Given the description of an element on the screen output the (x, y) to click on. 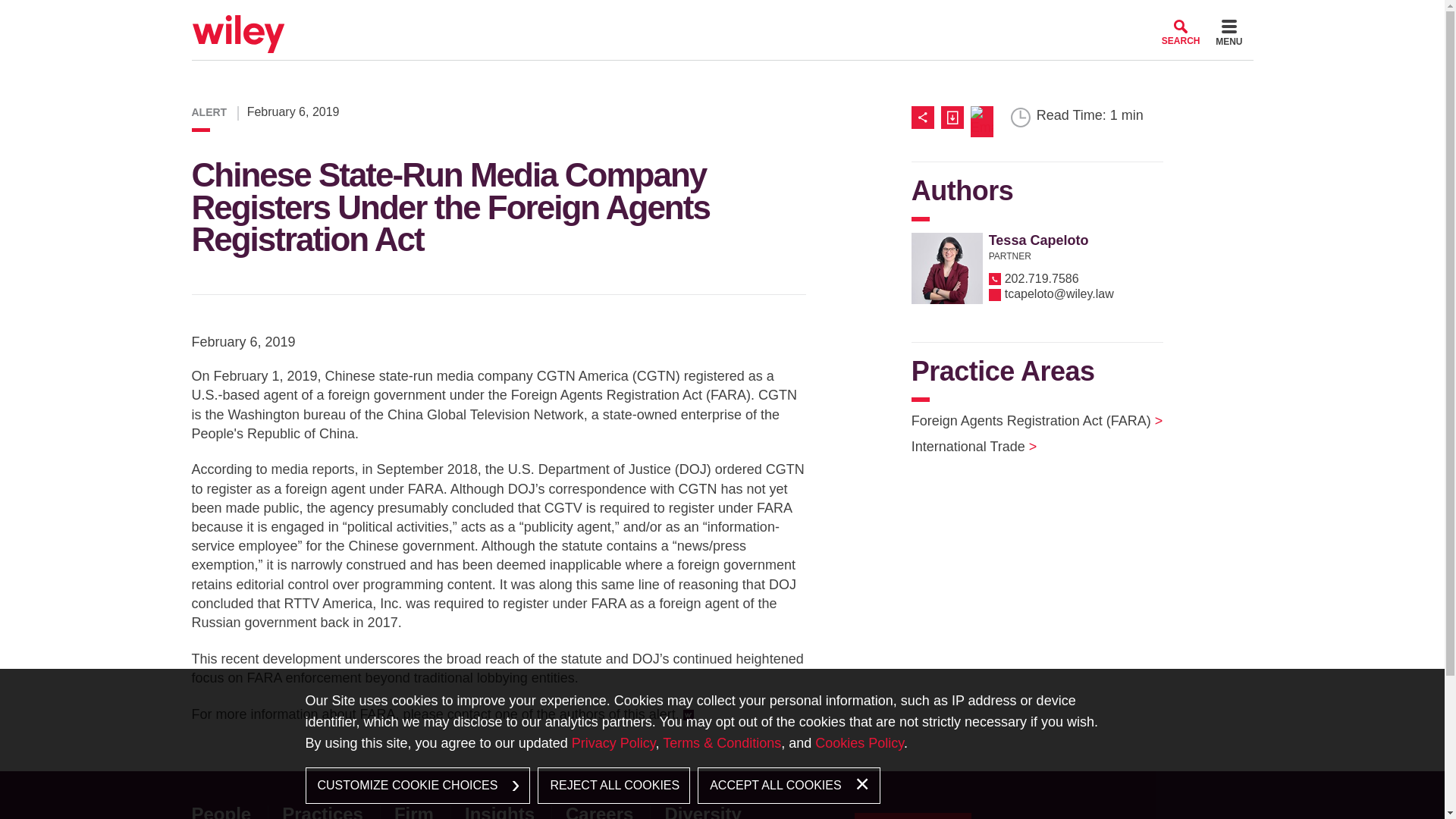
MENU (1228, 34)
Share (925, 117)
SEARCH (1180, 32)
Main Content (669, 17)
Menu (1228, 34)
Menu (676, 17)
Cookie Settings (663, 17)
Main Menu (676, 17)
